Given the description of an element on the screen output the (x, y) to click on. 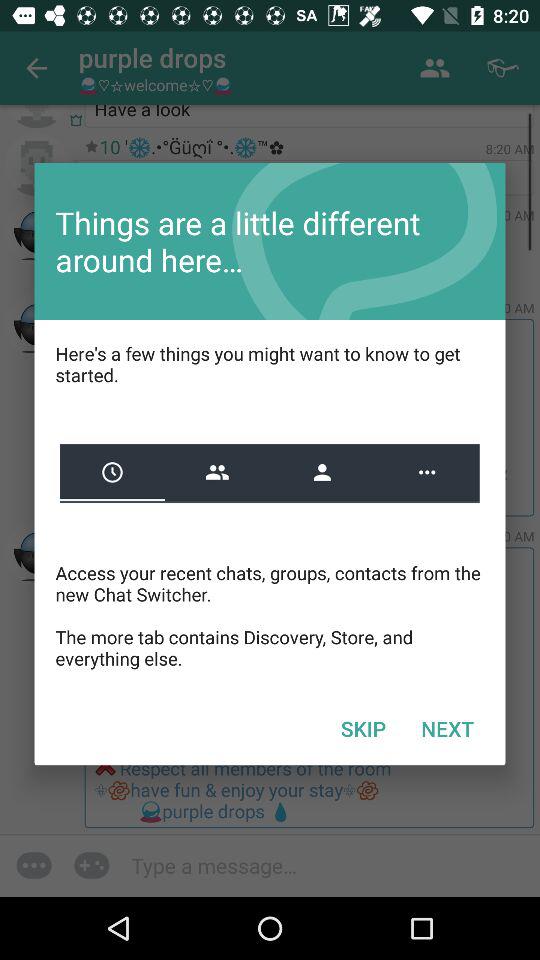
select the icon to the right of skip (447, 728)
